Given the description of an element on the screen output the (x, y) to click on. 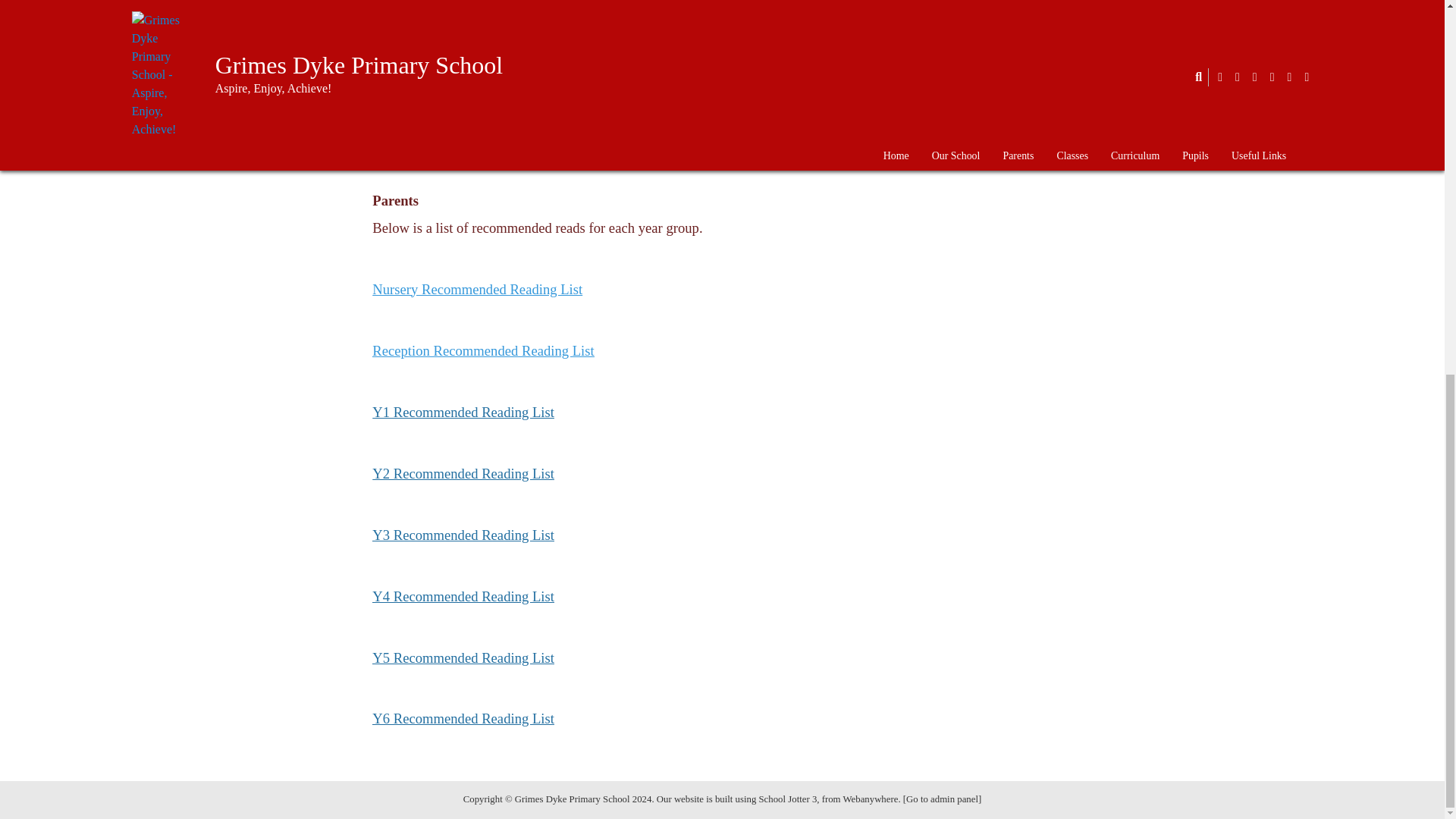
Reception Recommended Reading List (483, 350)
Y2 Recommended Reading List (463, 473)
Y3 Recommended Reading List (463, 534)
Y1 Recommended Reading List (463, 412)
Nursery Recommended Reading List (477, 289)
Y6 Recommended Reading List (463, 718)
Y4 Recommended Reading List (463, 596)
Y5 Recommended Reading List (463, 657)
